Given the description of an element on the screen output the (x, y) to click on. 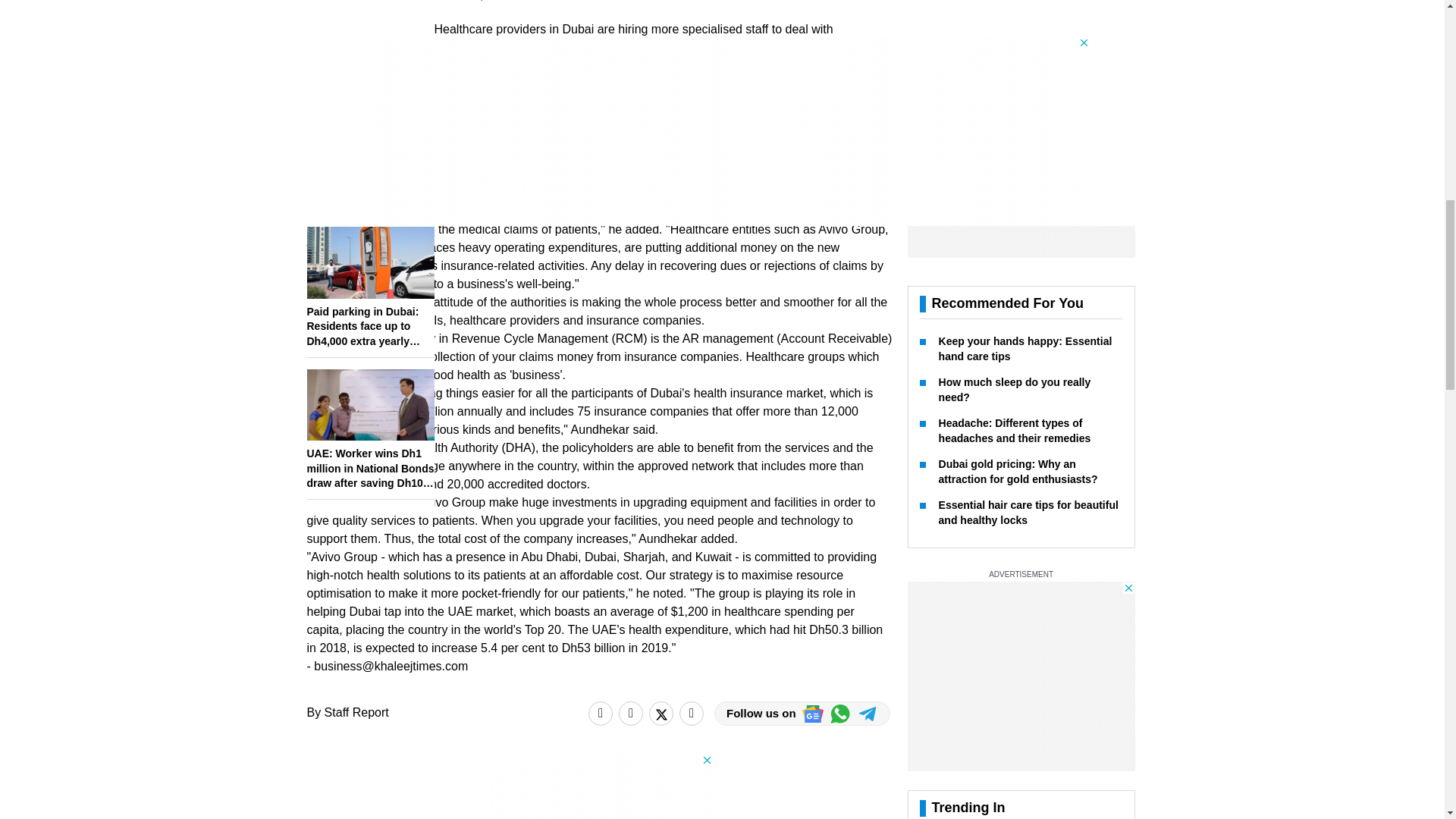
3rd party ad content (1021, 221)
3rd party ad content (1021, 737)
3rd party ad content (599, 786)
